Given the description of an element on the screen output the (x, y) to click on. 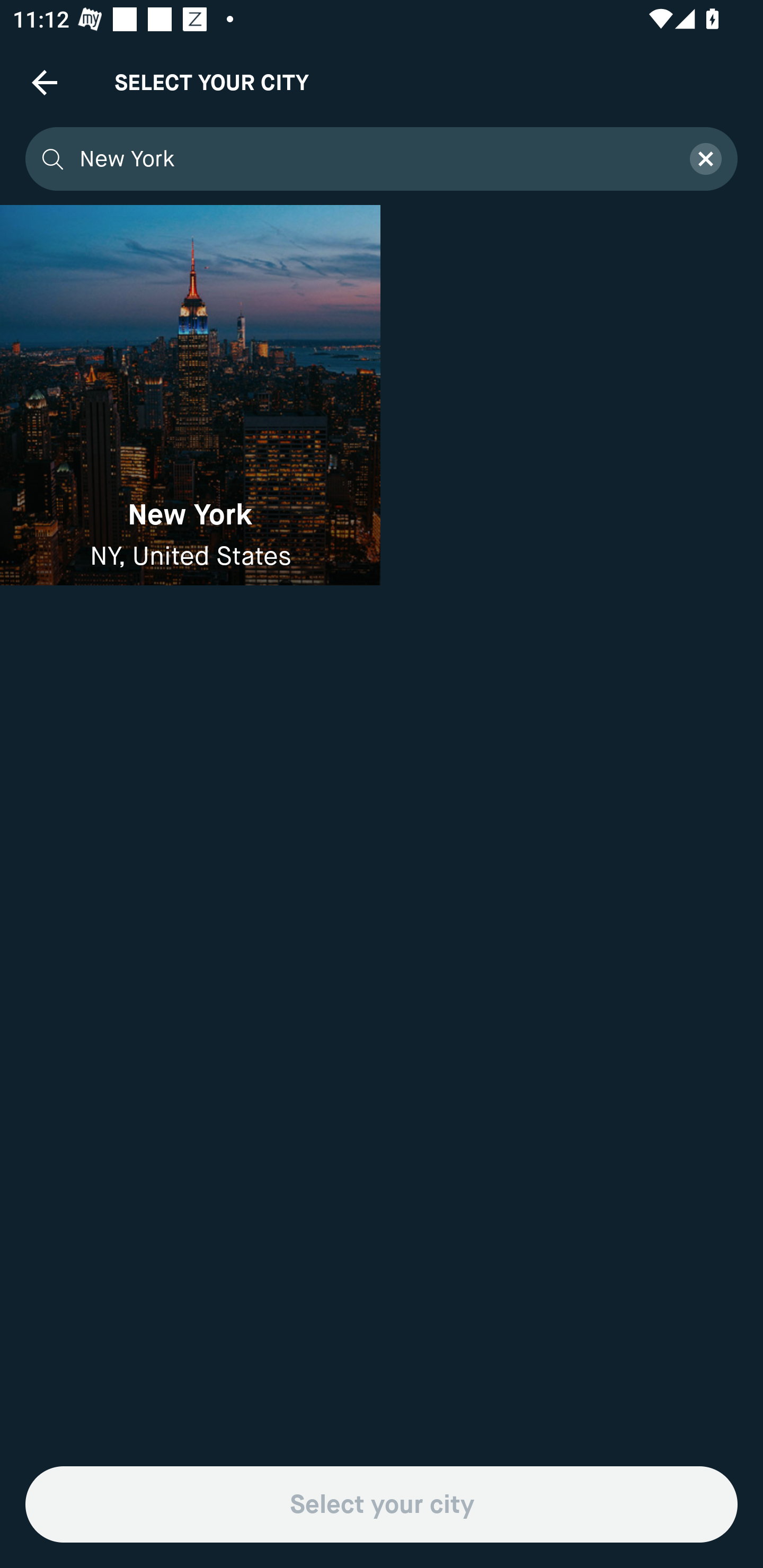
Navigate up (44, 82)
New York (373, 159)
New York NY, United States (190, 394)
Select your city (381, 1504)
